Given the description of an element on the screen output the (x, y) to click on. 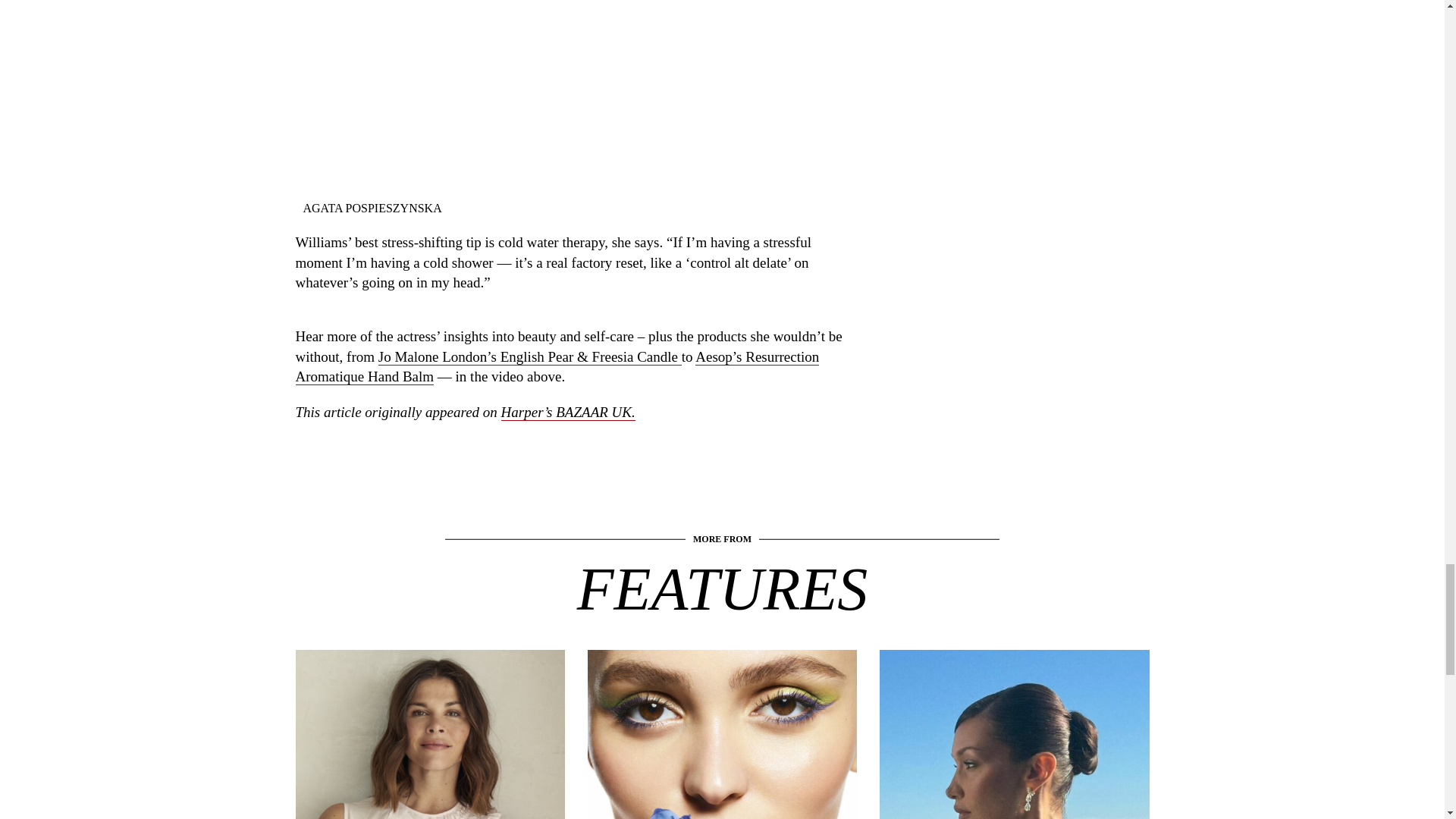
Emily Weiss on finally bringing Glossier to Australia (429, 798)
Emily Weiss on finally bringing Glossier to Australia (429, 798)
